Given the description of an element on the screen output the (x, y) to click on. 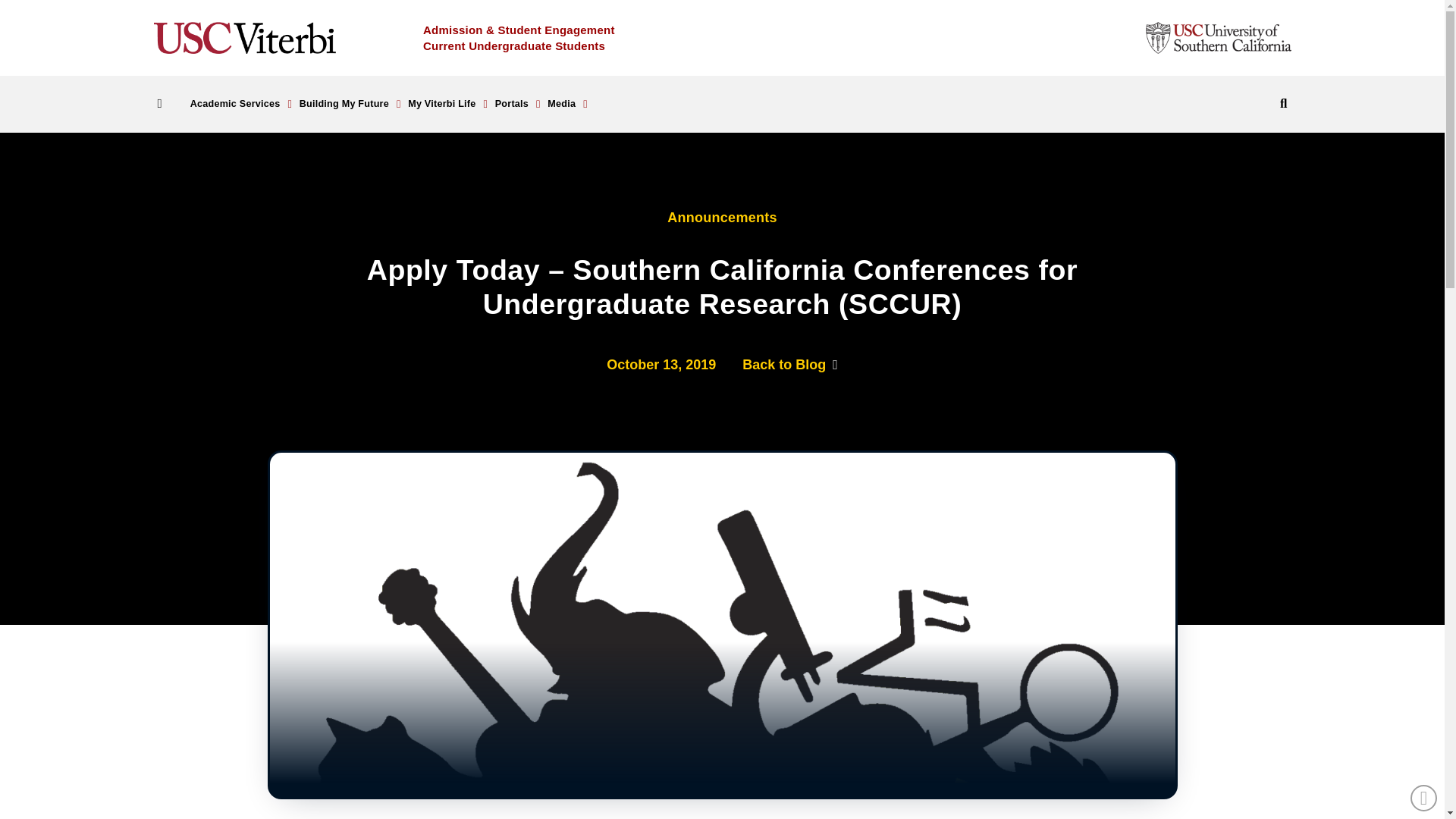
Back to Blog (790, 364)
Back to Top (1423, 797)
Announcements (721, 217)
